Given the description of an element on the screen output the (x, y) to click on. 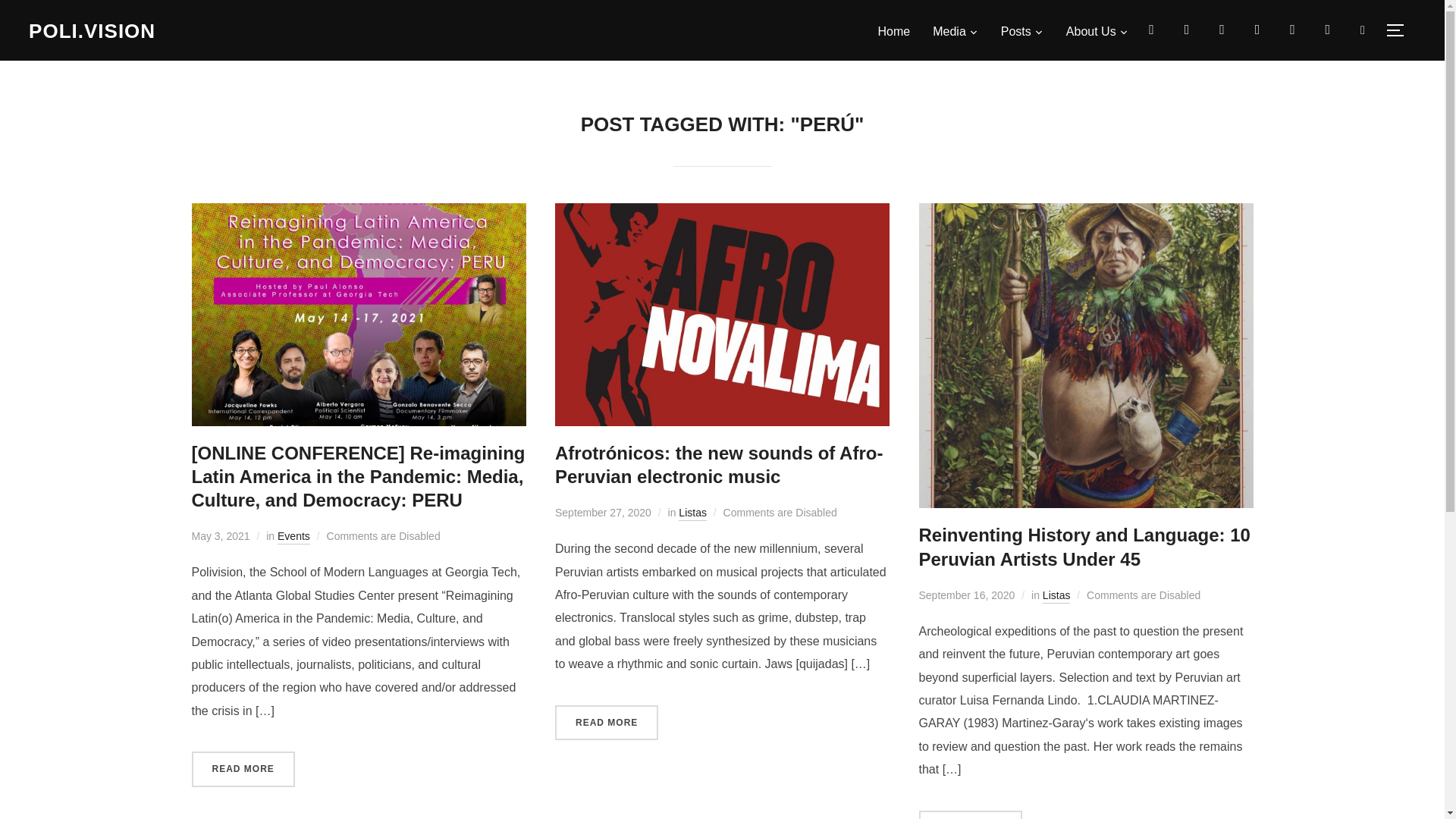
Default Label (1221, 28)
Twitter (1291, 28)
instagram (1151, 28)
twitter (1291, 28)
Default Label (1327, 28)
soundcloud (1327, 28)
tiktok (1186, 28)
facebook (1256, 28)
Instagram (1151, 28)
youtube (1221, 28)
About Us (1096, 31)
Home (894, 31)
Events (294, 536)
Search (15, 15)
